Given the description of an element on the screen output the (x, y) to click on. 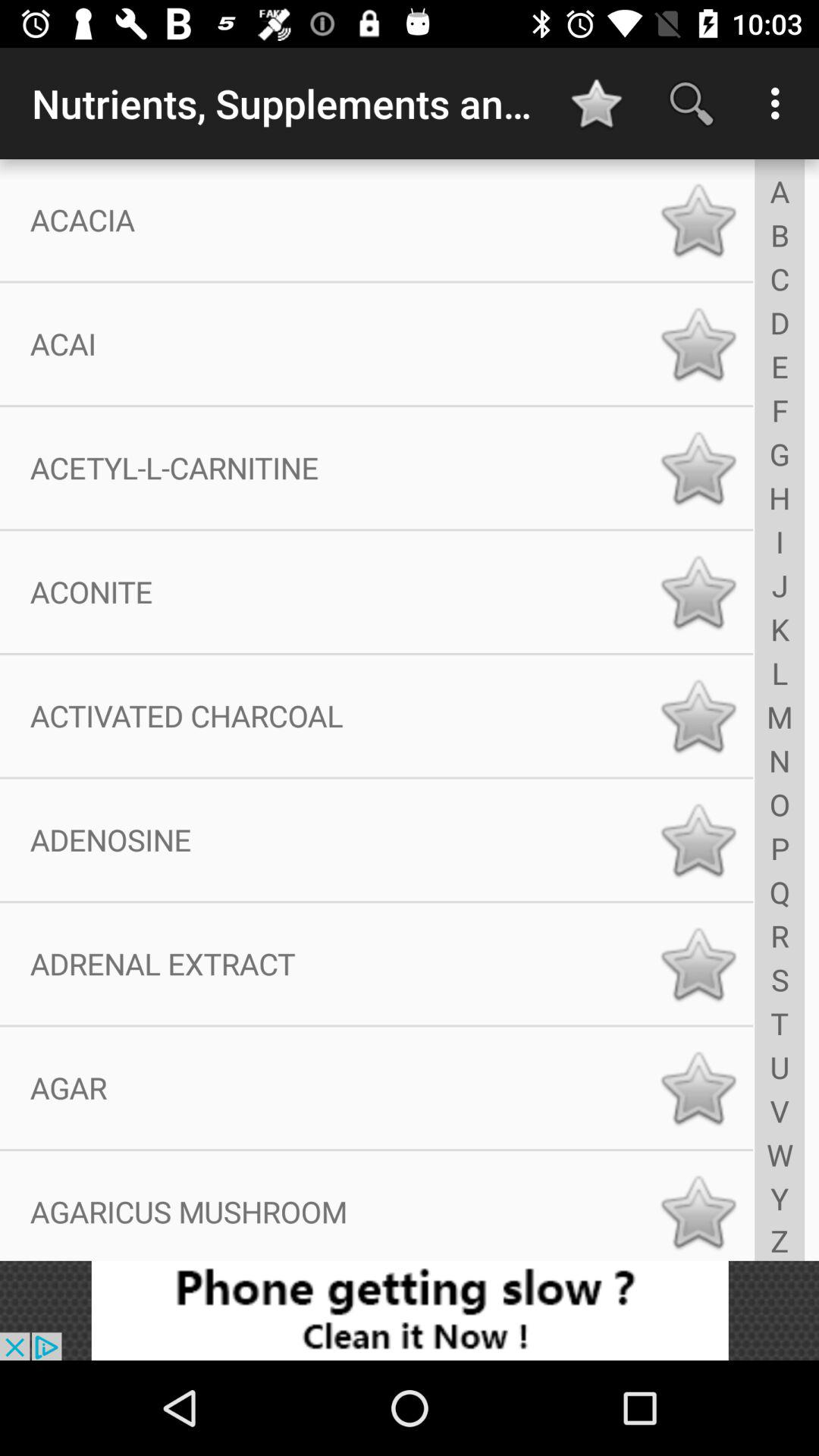
favorited (697, 963)
